Given the description of an element on the screen output the (x, y) to click on. 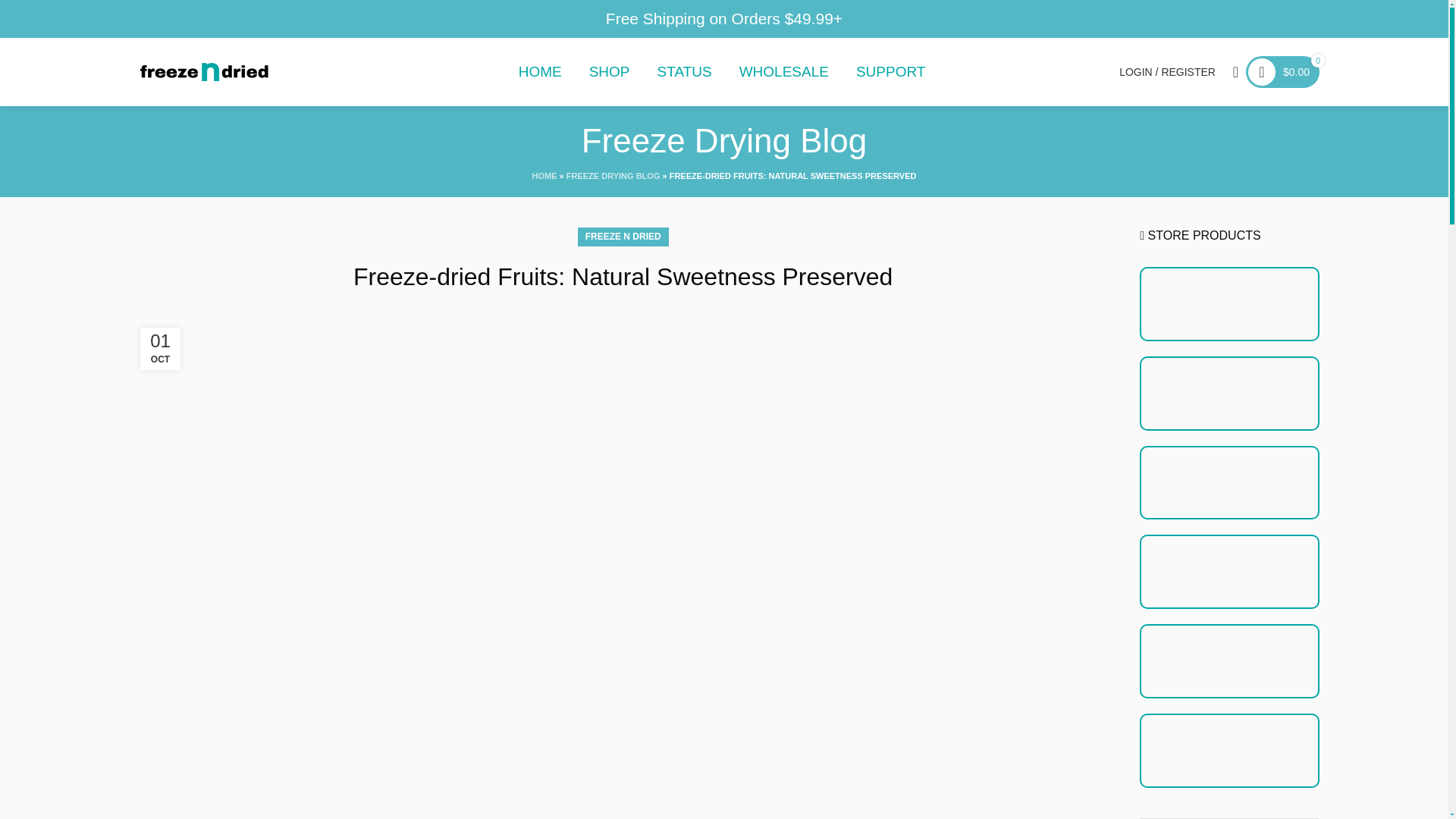
HOME (523, 71)
HOME (544, 175)
SHOP (593, 71)
SUPPORT (874, 71)
FREEZE N DRIED (623, 236)
WHOLESALE (767, 71)
FREEZE DRYING BLOG (613, 175)
My account (1167, 71)
Log in (1090, 313)
Shopping cart (1282, 71)
STATUS (667, 71)
